Given the description of an element on the screen output the (x, y) to click on. 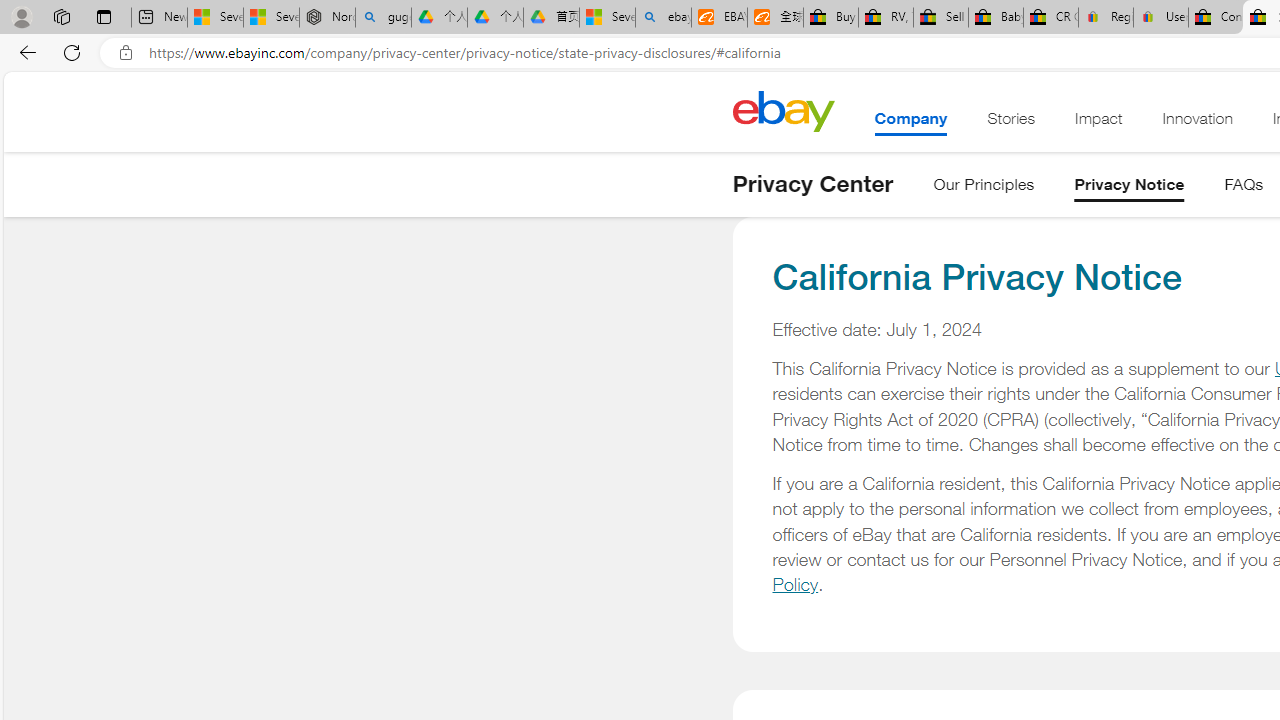
Our Principles (984, 188)
FAQs (1243, 188)
